Given the description of an element on the screen output the (x, y) to click on. 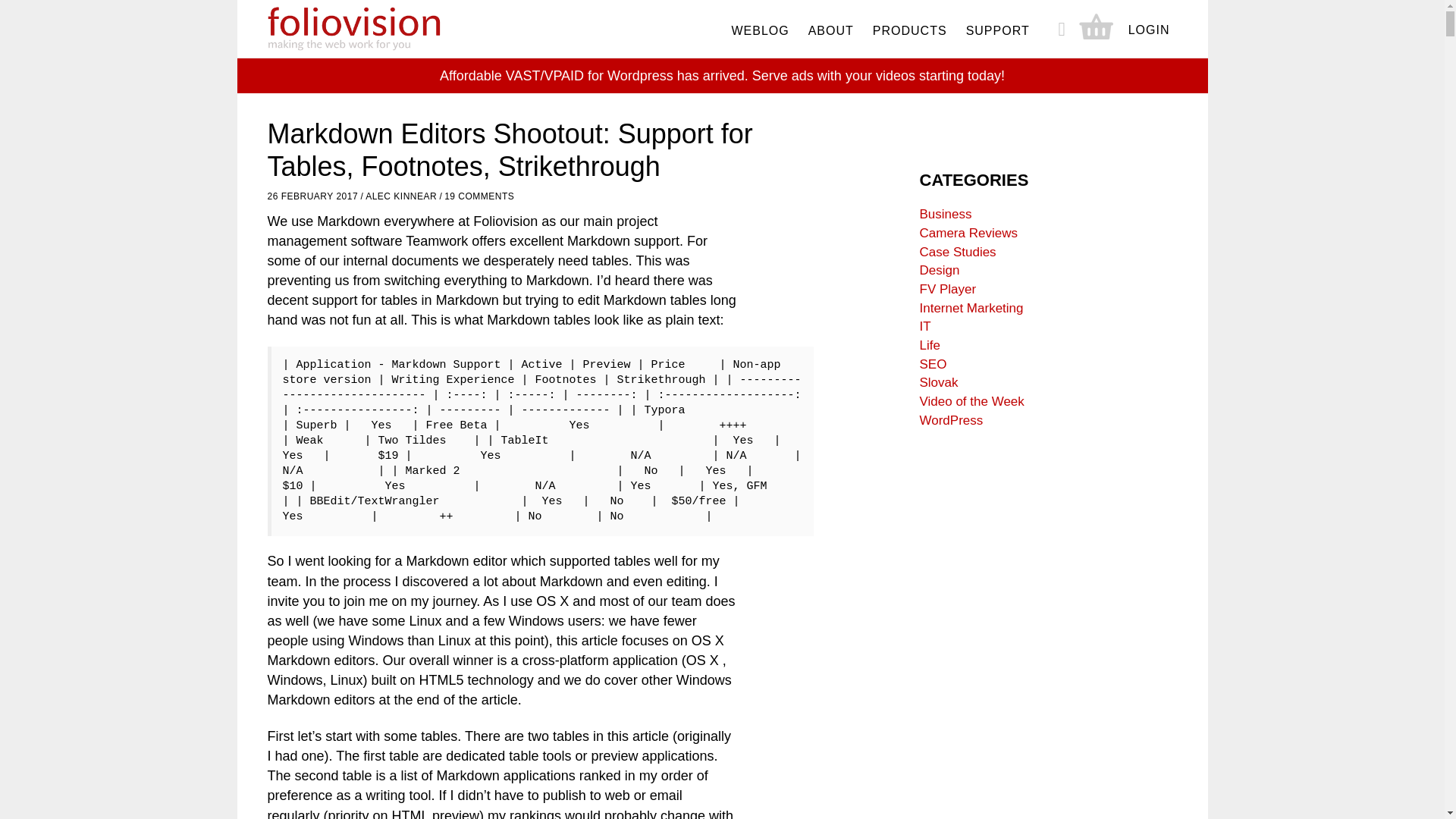
ABOUT (830, 31)
PRODUCTS (909, 31)
19 COMMENTS (478, 195)
ALEC KINNEAR (400, 195)
WEBLOG (759, 31)
Our selection of the most interesting videos on the web. (970, 400)
Innovations for WordPress. Neat WordPress tricks. (950, 420)
LOGIN (1149, 30)
FOLIOVISION (380, 28)
Online marketing strategies and directions. (970, 308)
SUPPORT (997, 31)
